Given the description of an element on the screen output the (x, y) to click on. 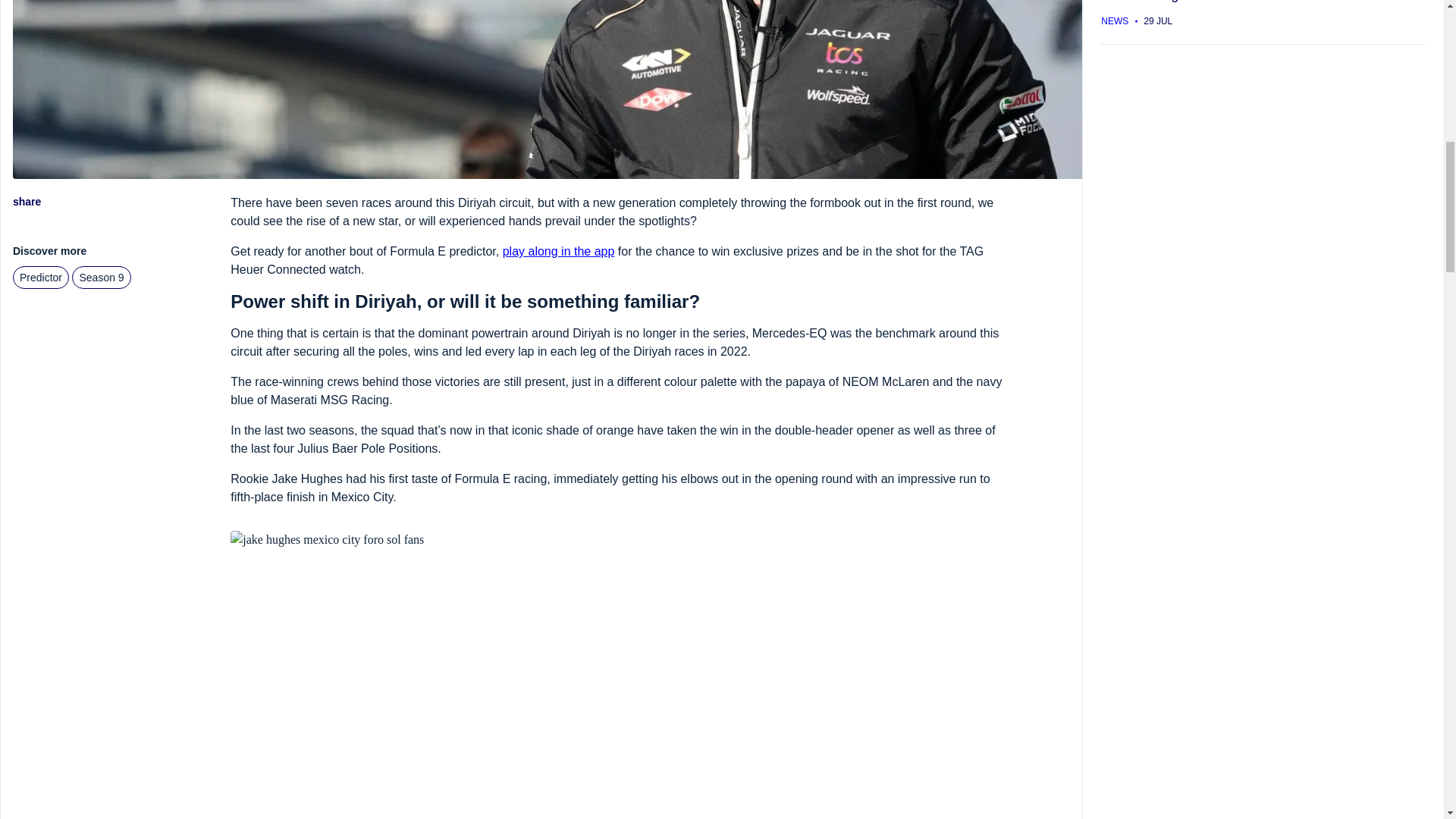
Search predictor (40, 277)
Stoffel Vandoorne and Jake Hughes join Maserati MSG Racing (1262, 12)
Search 9 (101, 277)
